Given the description of an element on the screen output the (x, y) to click on. 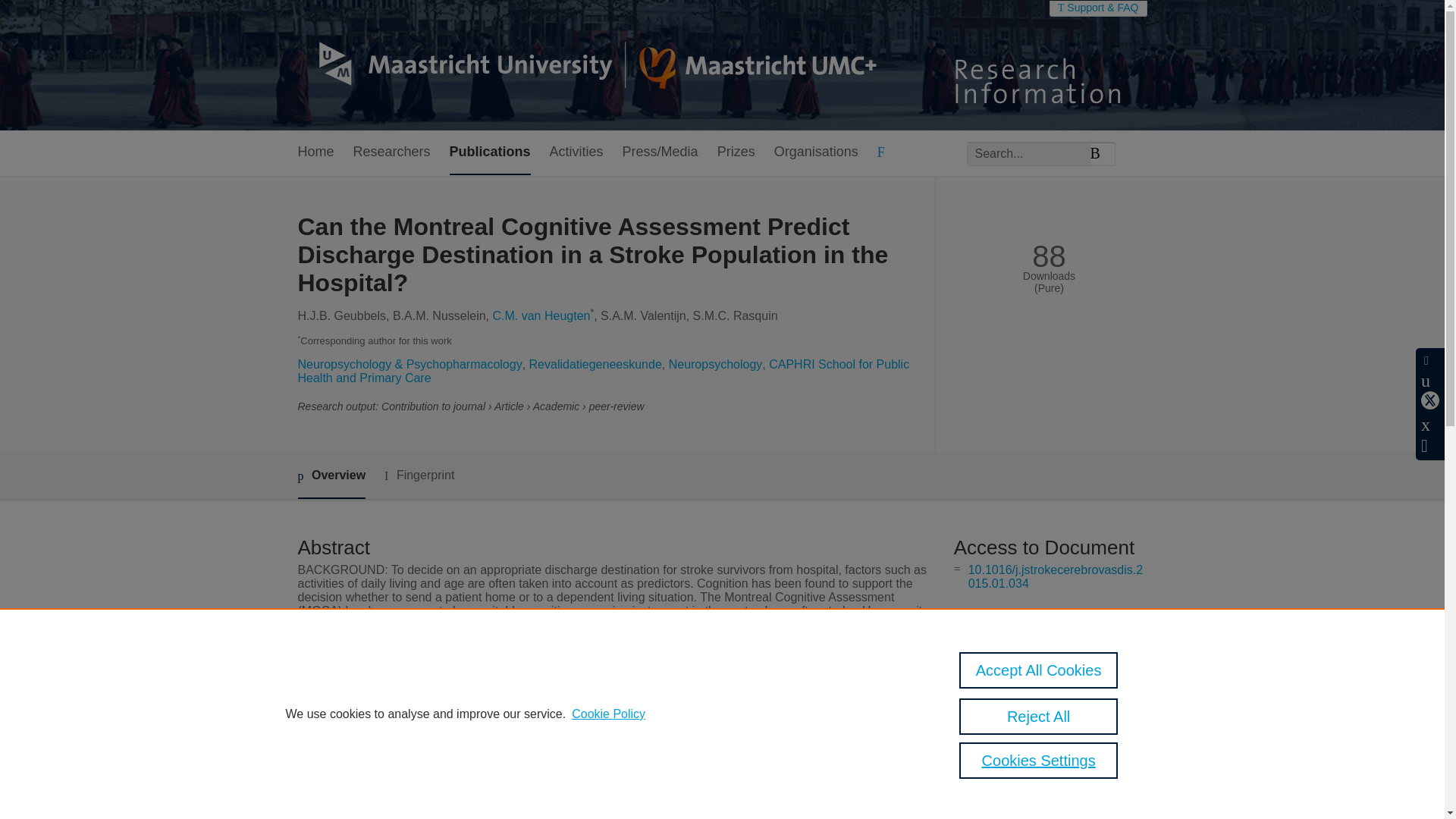
Activities (577, 152)
Overview (331, 476)
Prizes (736, 152)
CAPHRI School for Public Health and Primary Care (602, 370)
Neuropsychology (715, 364)
Organisations (816, 152)
Taverne (1023, 644)
Researchers (391, 152)
Home (315, 152)
Revalidatiegeneeskunde (595, 364)
Publications (490, 152)
Maastricht University Home (586, 64)
Full Text (988, 615)
C.M. van Heugten (542, 315)
